Given the description of an element on the screen output the (x, y) to click on. 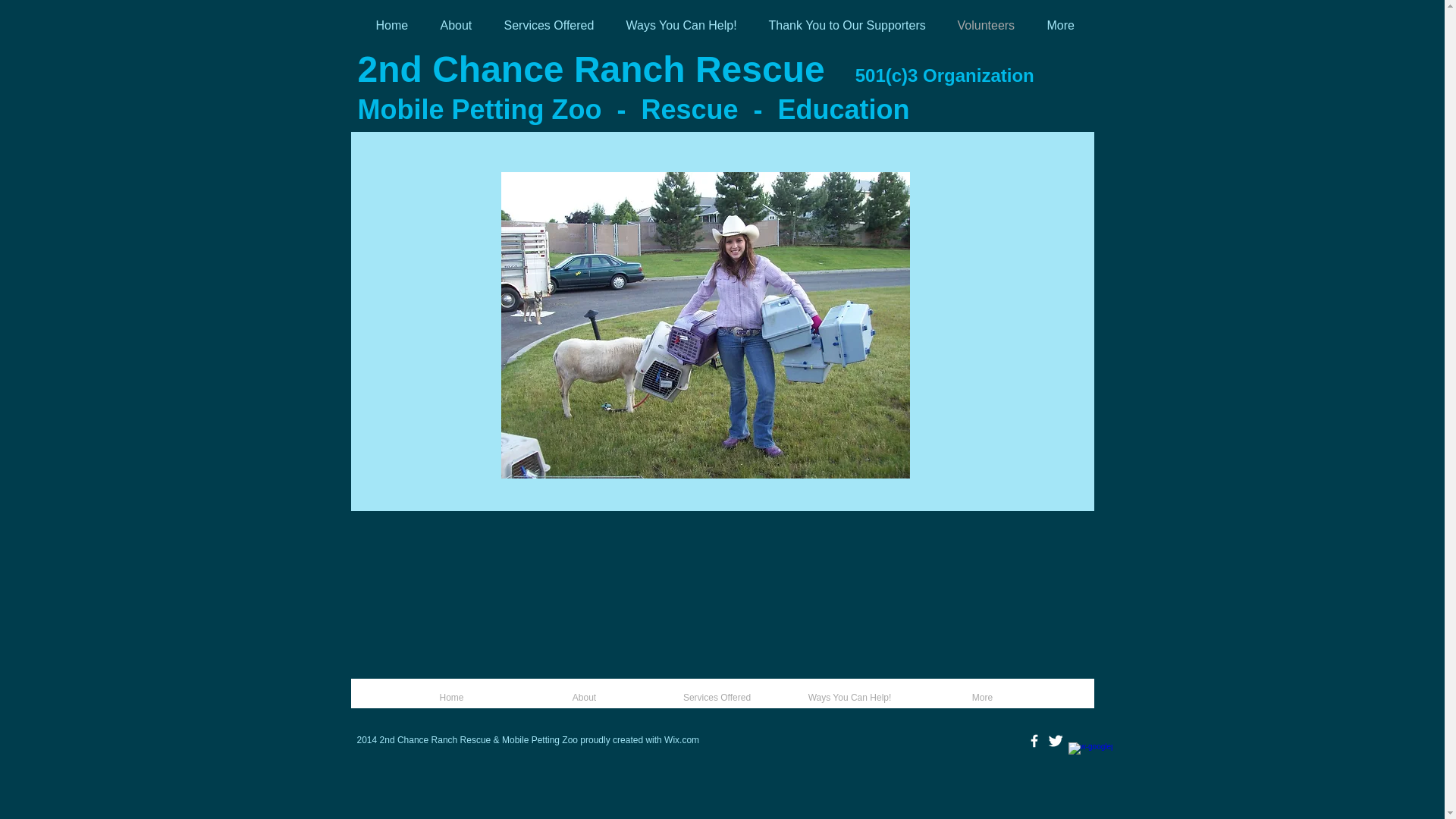
About Element type: text (583, 697)
Volunteers Element type: text (986, 25)
About Element type: text (456, 25)
Home Element type: text (451, 697)
Ways You Can Help! Element type: text (849, 697)
Ways You Can Help! Element type: text (682, 25)
Thank You to Our Supporters Element type: text (847, 25)
Wix.com Element type: text (681, 739)
Services Offered Element type: text (716, 697)
Home Element type: text (392, 25)
Services Offered Element type: text (549, 25)
